Given the description of an element on the screen output the (x, y) to click on. 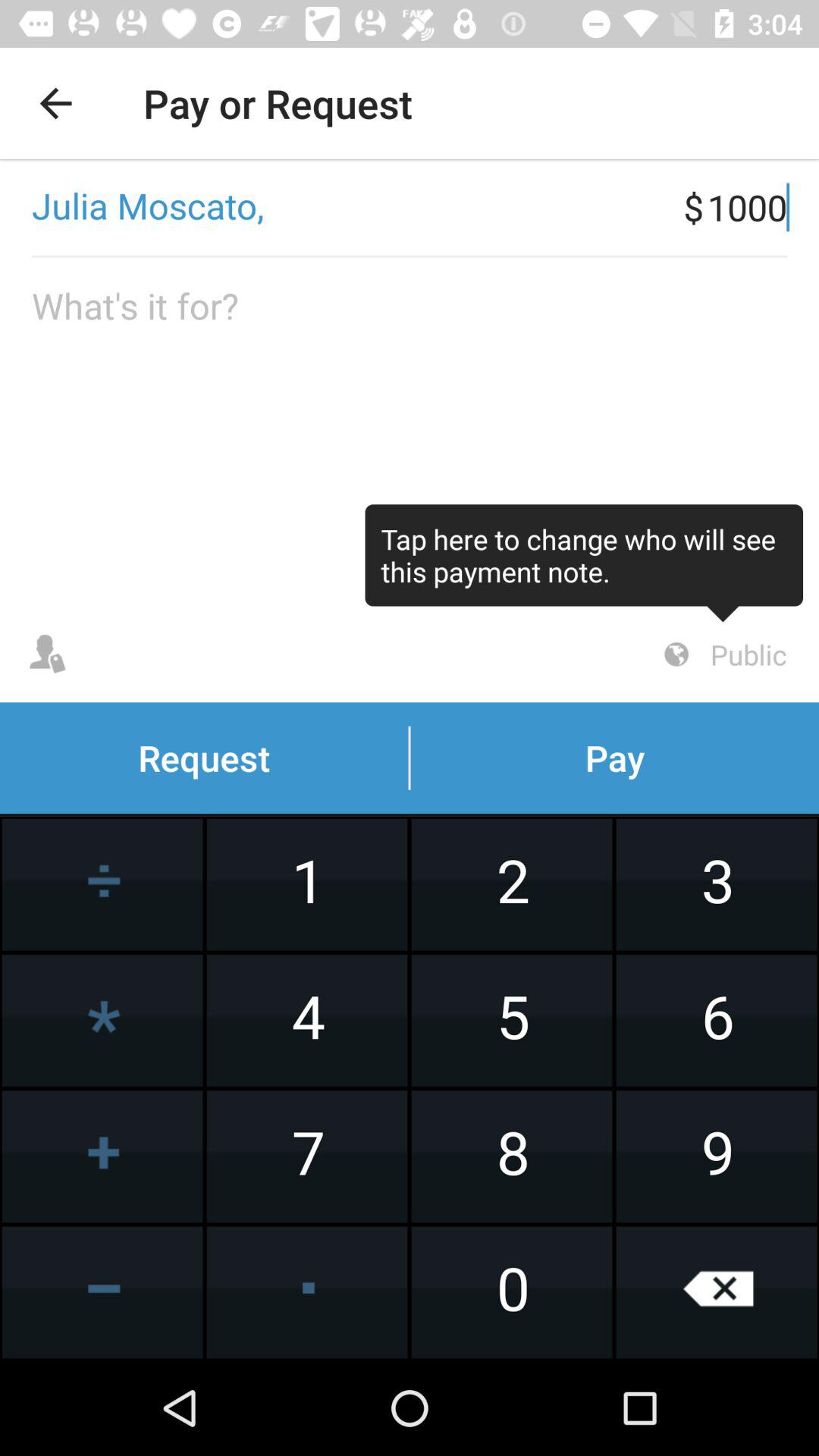
add contacts to list (47, 654)
